Given the description of an element on the screen output the (x, y) to click on. 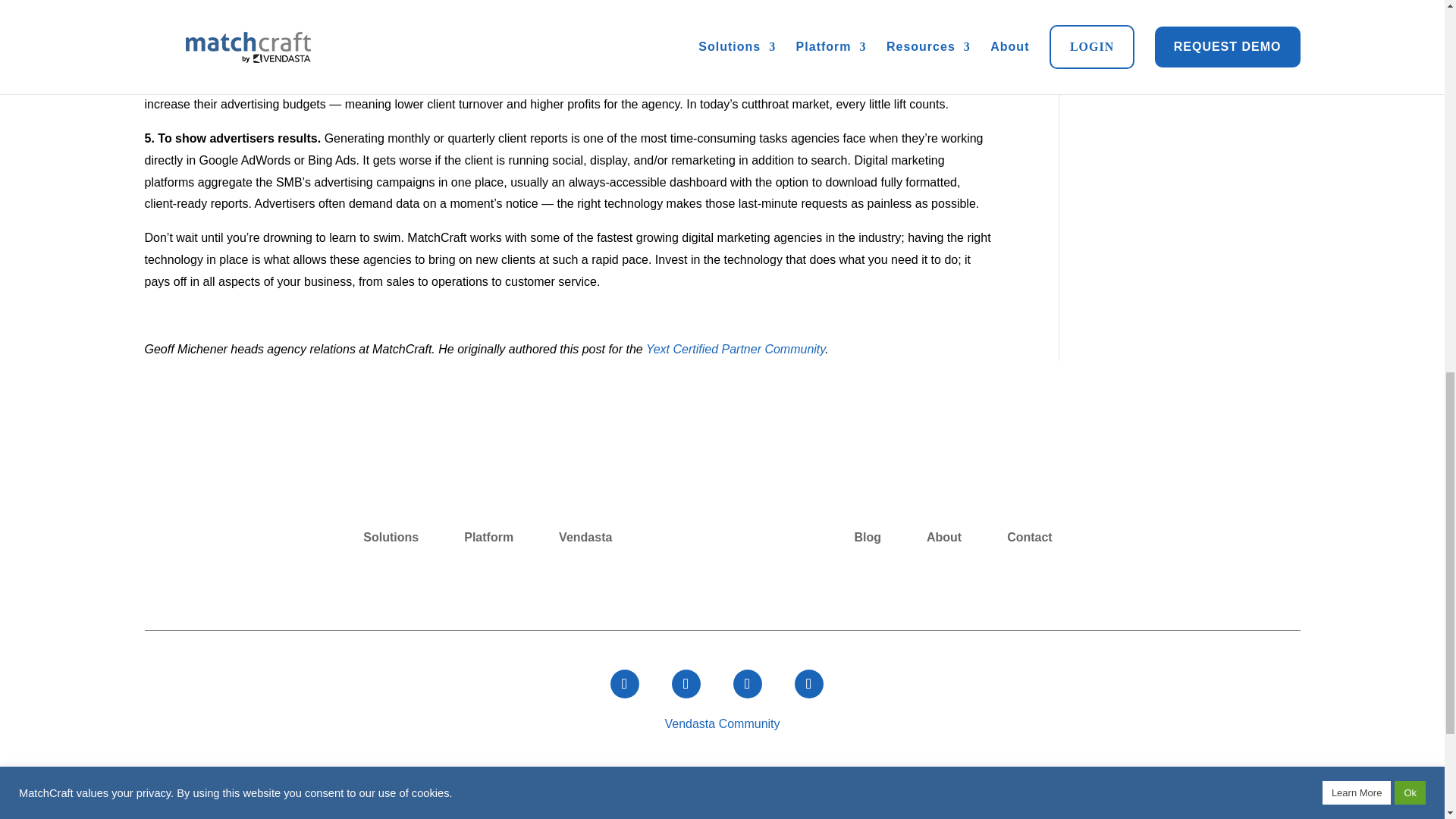
Follow on LinkedIn (809, 683)
Follow on Instagram (746, 683)
Follow on Facebook (624, 683)
Yext Certified Partner Community (735, 349)
Yext Certified Partner Community (735, 349)
Follow on X (685, 683)
